Given the description of an element on the screen output the (x, y) to click on. 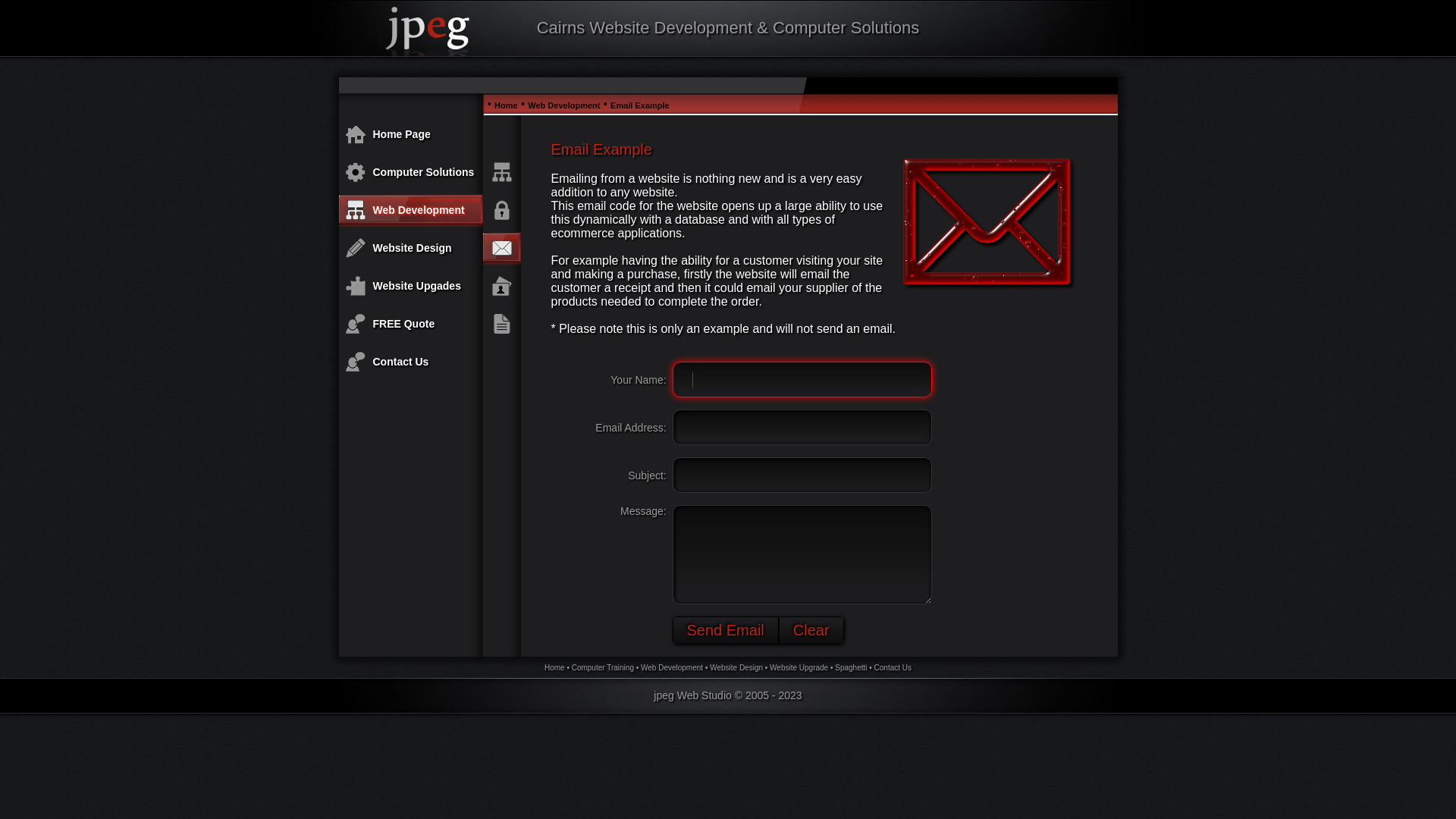
Computer Training Element type: text (602, 666)
Web Development Element type: text (563, 104)
Website Design Element type: text (735, 666)
FREE Quote Element type: text (404, 323)
Contact Us Element type: text (892, 666)
Home Element type: text (554, 666)
Spaghetti Element type: text (850, 666)
Website Upgrade Element type: text (798, 666)
Home Page Element type: text (401, 134)
Website Upgades Element type: text (417, 285)
Home Element type: text (505, 104)
Website Design Element type: text (412, 247)
Clear Element type: text (811, 630)
Web Development Element type: text (671, 666)
Computer Solutions Element type: text (423, 172)
Contact Us Element type: text (401, 361)
Send Email Element type: text (724, 630)
Email Example Element type: text (639, 104)
